Given the description of an element on the screen output the (x, y) to click on. 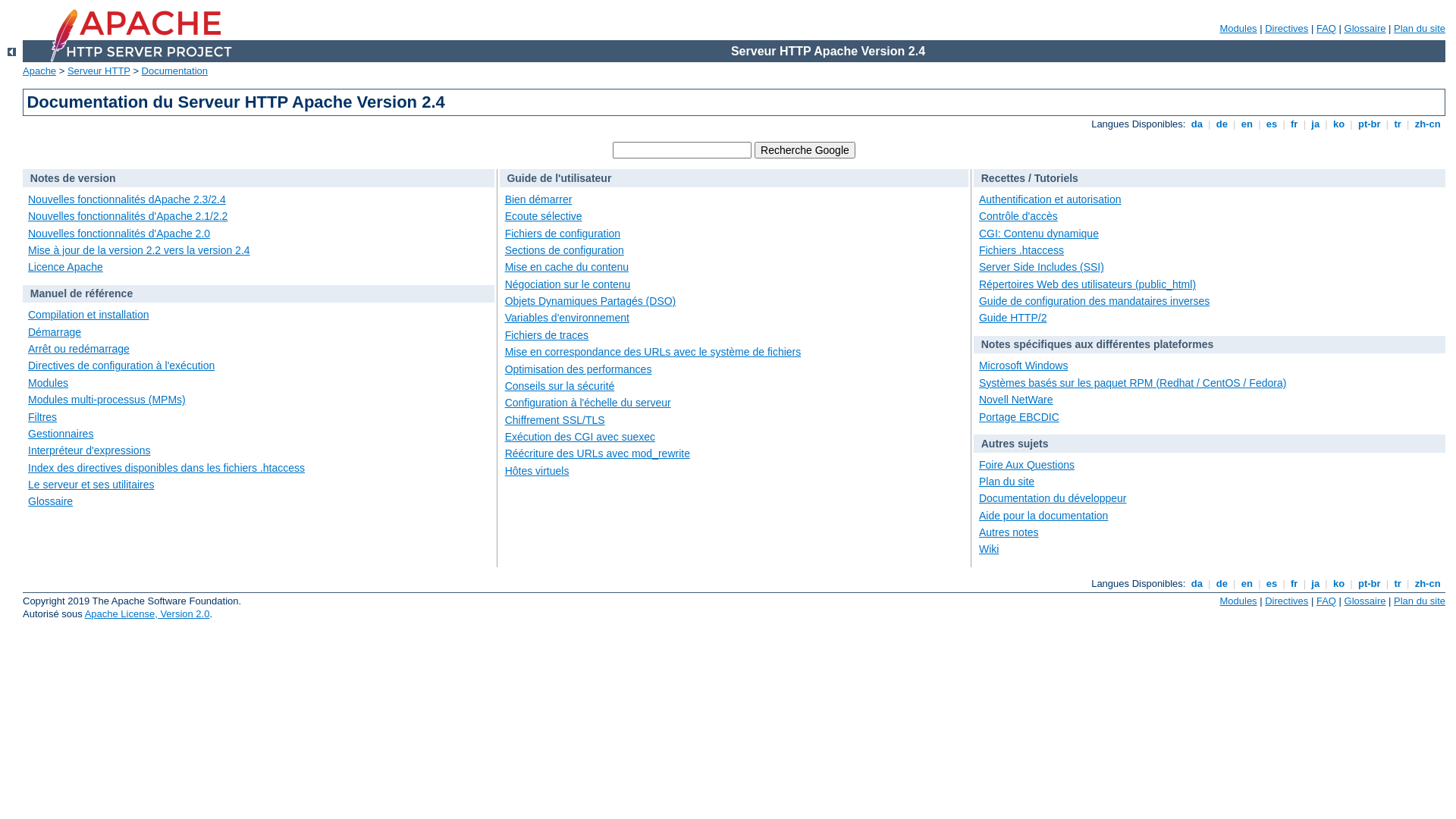
 de  Element type: text (1221, 583)
Glossaire Element type: text (1365, 28)
 fr  Element type: text (1293, 123)
Foire Aux Questions Element type: text (1026, 464)
Directives Element type: text (1286, 600)
 da  Element type: text (1196, 583)
 tr  Element type: text (1397, 583)
 zh-cn  Element type: text (1427, 123)
 es  Element type: text (1271, 123)
 en  Element type: text (1246, 123)
Authentification et autorisation Element type: text (1050, 199)
Le serveur et ses utilitaires Element type: text (91, 484)
Apache License, Version 2.0 Element type: text (147, 613)
Fichiers .htaccess Element type: text (1021, 250)
Server Side Includes (SSI) Element type: text (1041, 266)
Apache Element type: text (39, 70)
Modules multi-processus (MPMs) Element type: text (106, 399)
 tr  Element type: text (1397, 123)
 pt-br  Element type: text (1369, 123)
Guide de configuration des mandataires inverses Element type: text (1094, 300)
CGI: Contenu dynamique Element type: text (1038, 233)
 en  Element type: text (1246, 583)
Portage EBCDIC Element type: text (1019, 417)
Chiffrement SSL/TLS Element type: text (555, 420)
 de  Element type: text (1221, 123)
Plan du site Element type: text (1419, 600)
Recherche Google Element type: text (804, 149)
Glossaire Element type: text (50, 501)
Novell NetWare Element type: text (1016, 399)
Variables d'environnement Element type: text (567, 317)
Compilation et installation Element type: text (88, 314)
 pt-br  Element type: text (1369, 583)
Wiki Element type: text (988, 548)
Aide pour la documentation Element type: text (1043, 515)
 ja  Element type: text (1315, 583)
 ja  Element type: text (1315, 123)
Recettes / Tutoriels Element type: text (1029, 178)
Microsoft Windows Element type: text (1023, 365)
Optimisation des performances Element type: text (578, 369)
Notes de version Element type: text (73, 178)
 es  Element type: text (1271, 583)
FAQ Element type: text (1326, 600)
Autres notes Element type: text (1008, 532)
Mise en cache du contenu Element type: text (566, 266)
Glossaire Element type: text (1365, 600)
Serveur HTTP Element type: text (98, 70)
 da  Element type: text (1196, 123)
Filtres Element type: text (42, 417)
Index des directives disponibles dans les fichiers .htaccess Element type: text (166, 467)
Plan du site Element type: text (1006, 481)
Fichiers de configuration Element type: text (563, 233)
Modules Element type: text (1237, 28)
 ko  Element type: text (1338, 583)
Guide HTTP/2 Element type: text (1012, 317)
Plan du site Element type: text (1419, 28)
Directives Element type: text (1286, 28)
Modules Element type: text (48, 382)
Licence Apache Element type: text (65, 266)
FAQ Element type: text (1326, 28)
 zh-cn  Element type: text (1427, 583)
Sections de configuration Element type: text (564, 250)
Modules Element type: text (1237, 600)
Gestionnaires Element type: text (60, 433)
Autres sujets Element type: text (1014, 443)
 ko  Element type: text (1338, 123)
 fr  Element type: text (1293, 583)
<- Element type: hover (11, 51)
Guide de l'utilisateur Element type: text (558, 178)
Fichiers de traces Element type: text (546, 335)
Documentation Element type: text (174, 70)
